Given the description of an element on the screen output the (x, y) to click on. 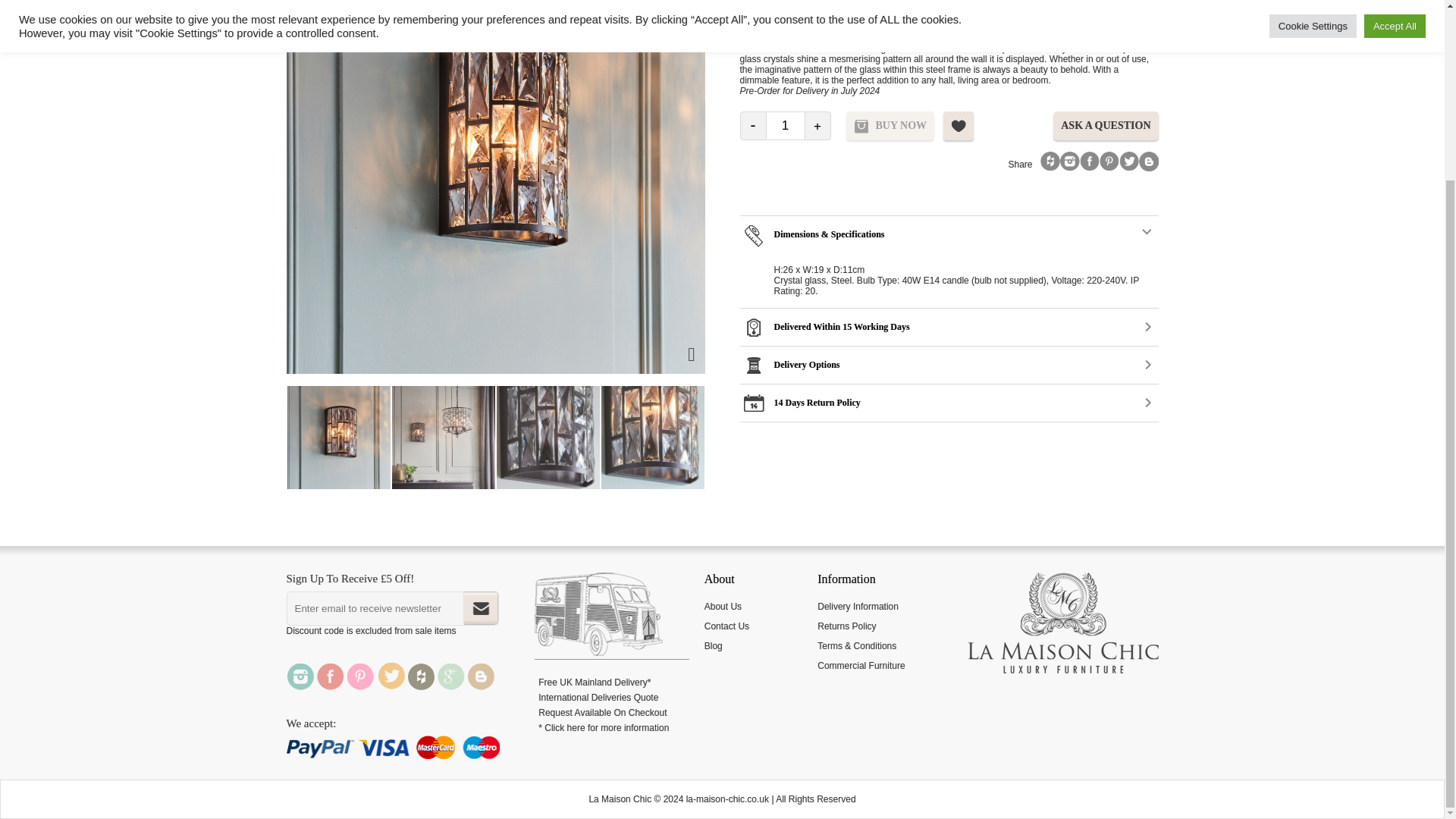
1 (784, 125)
Evanthe Bronze Crystal Wall Light (234, 436)
Sign up (480, 607)
